Given the description of an element on the screen output the (x, y) to click on. 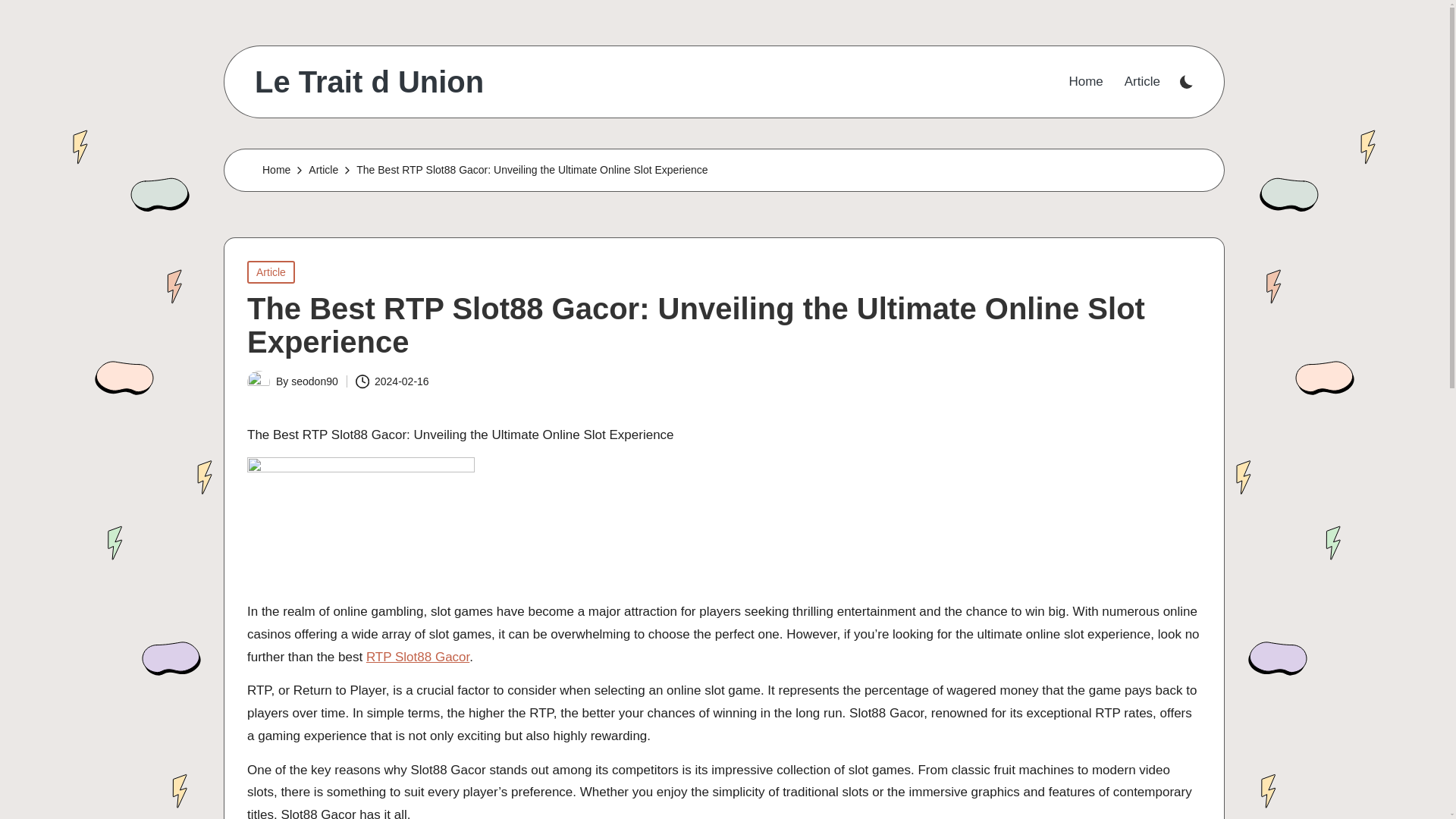
Article (271, 272)
Home (275, 169)
Article (322, 169)
seodon90 (314, 381)
RTP Slot88 Gacor (417, 656)
View all posts by seodon90 (314, 381)
Home (1085, 81)
Article (1142, 81)
Le Trait d Union (368, 81)
